Given the description of an element on the screen output the (x, y) to click on. 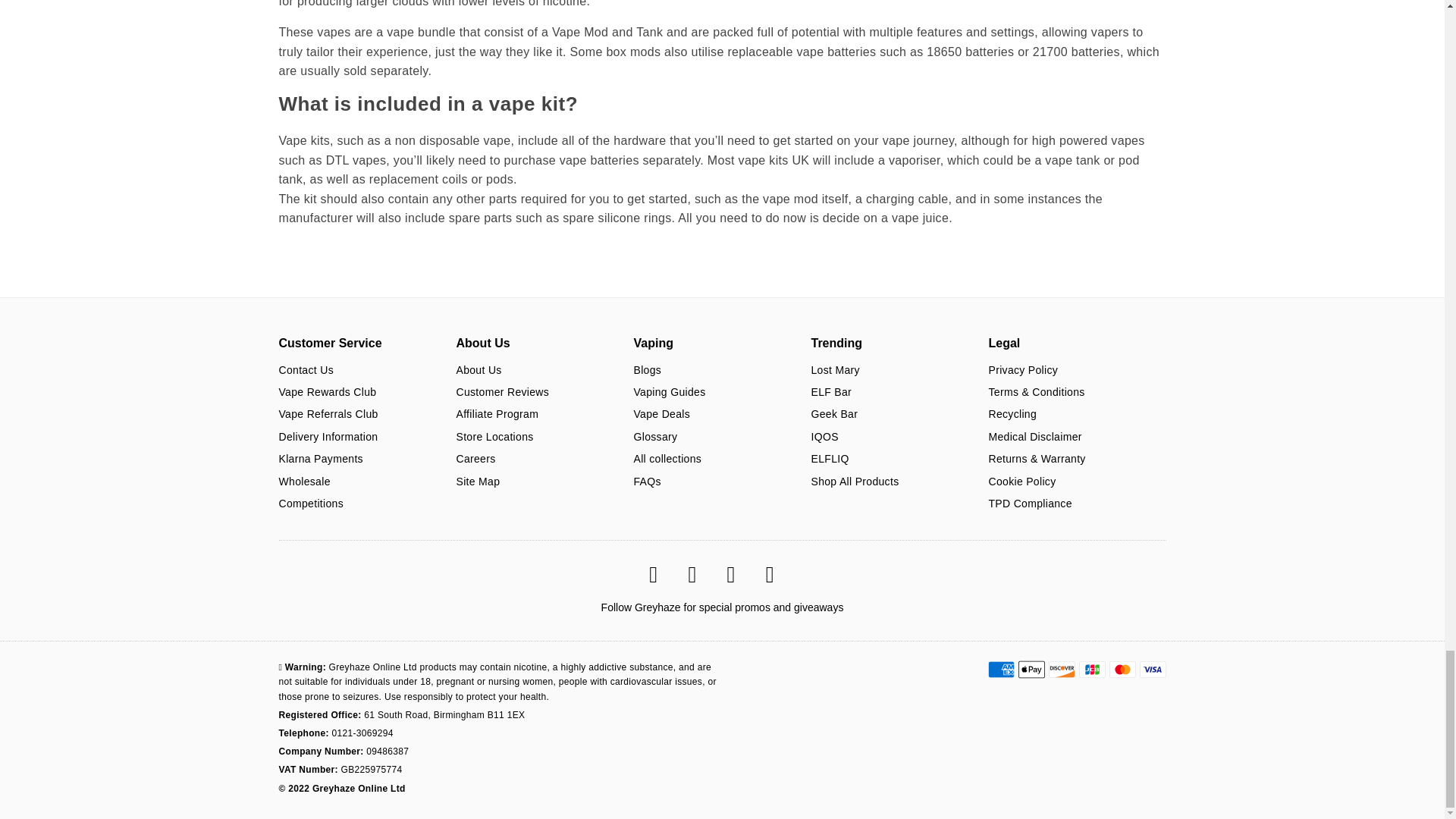
JCB (1091, 669)
Discover (1061, 669)
Apple Pay (1030, 669)
American Express (1000, 669)
Visa (1152, 669)
Mastercard (1121, 669)
